Given the description of an element on the screen output the (x, y) to click on. 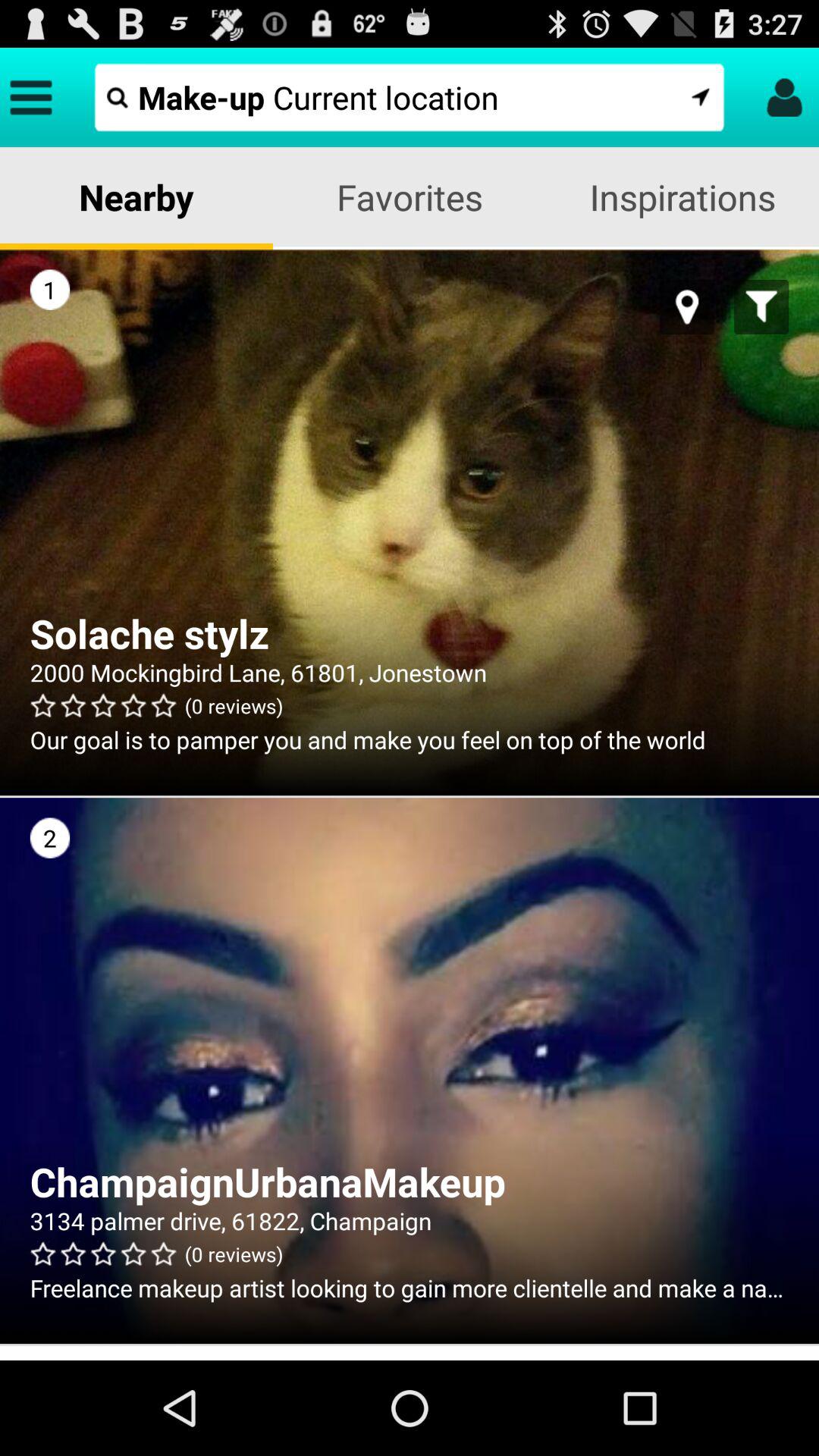
scroll until solache stylz icon (409, 632)
